Given the description of an element on the screen output the (x, y) to click on. 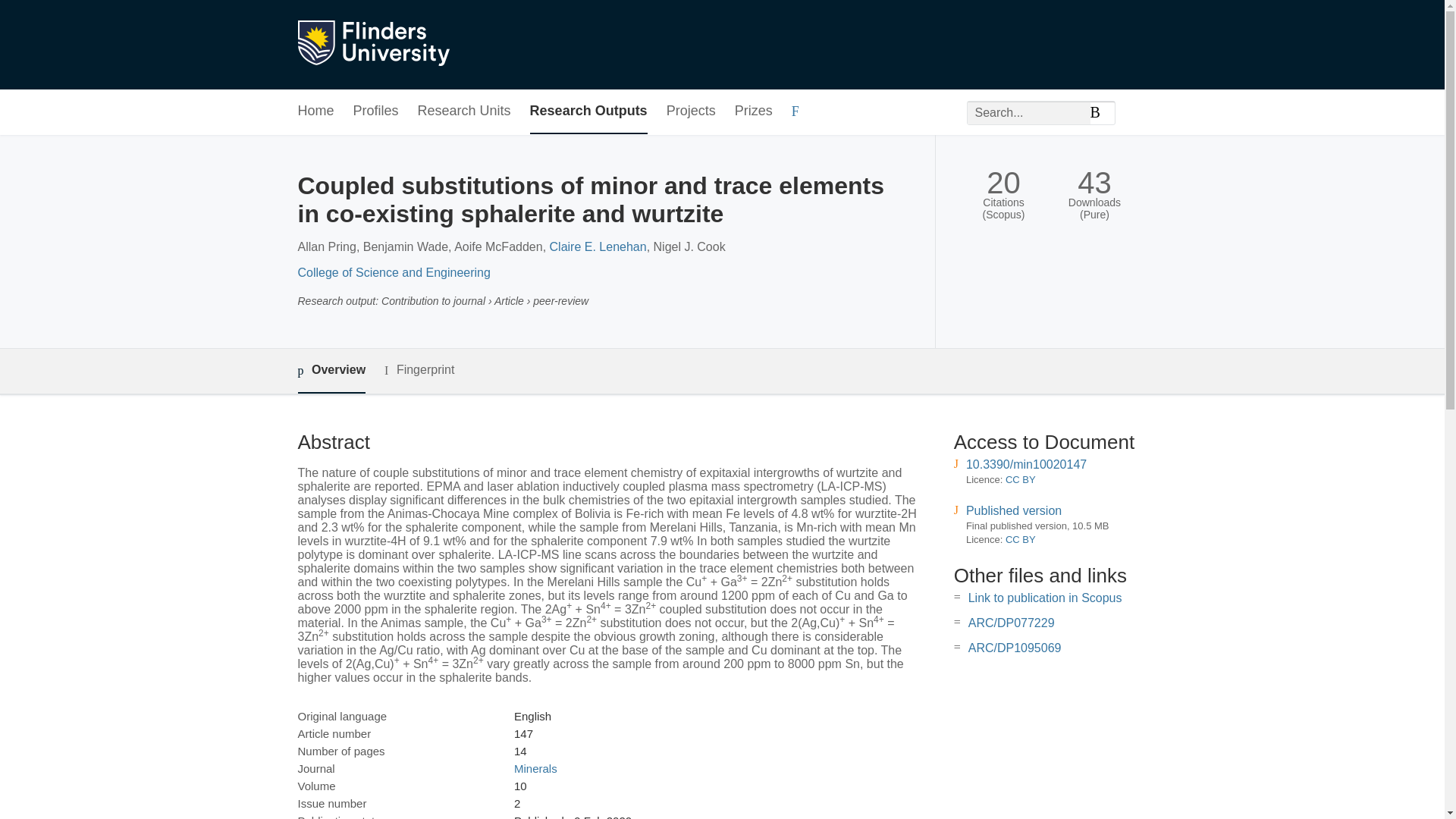
Projects (691, 111)
Profiles (375, 111)
Overview (331, 370)
Research Units (464, 111)
Minerals (535, 768)
Fingerprint (419, 370)
CC BY (1020, 479)
College of Science and Engineering (393, 272)
Link to publication in Scopus (1045, 597)
Research Outputs (588, 111)
